Given the description of an element on the screen output the (x, y) to click on. 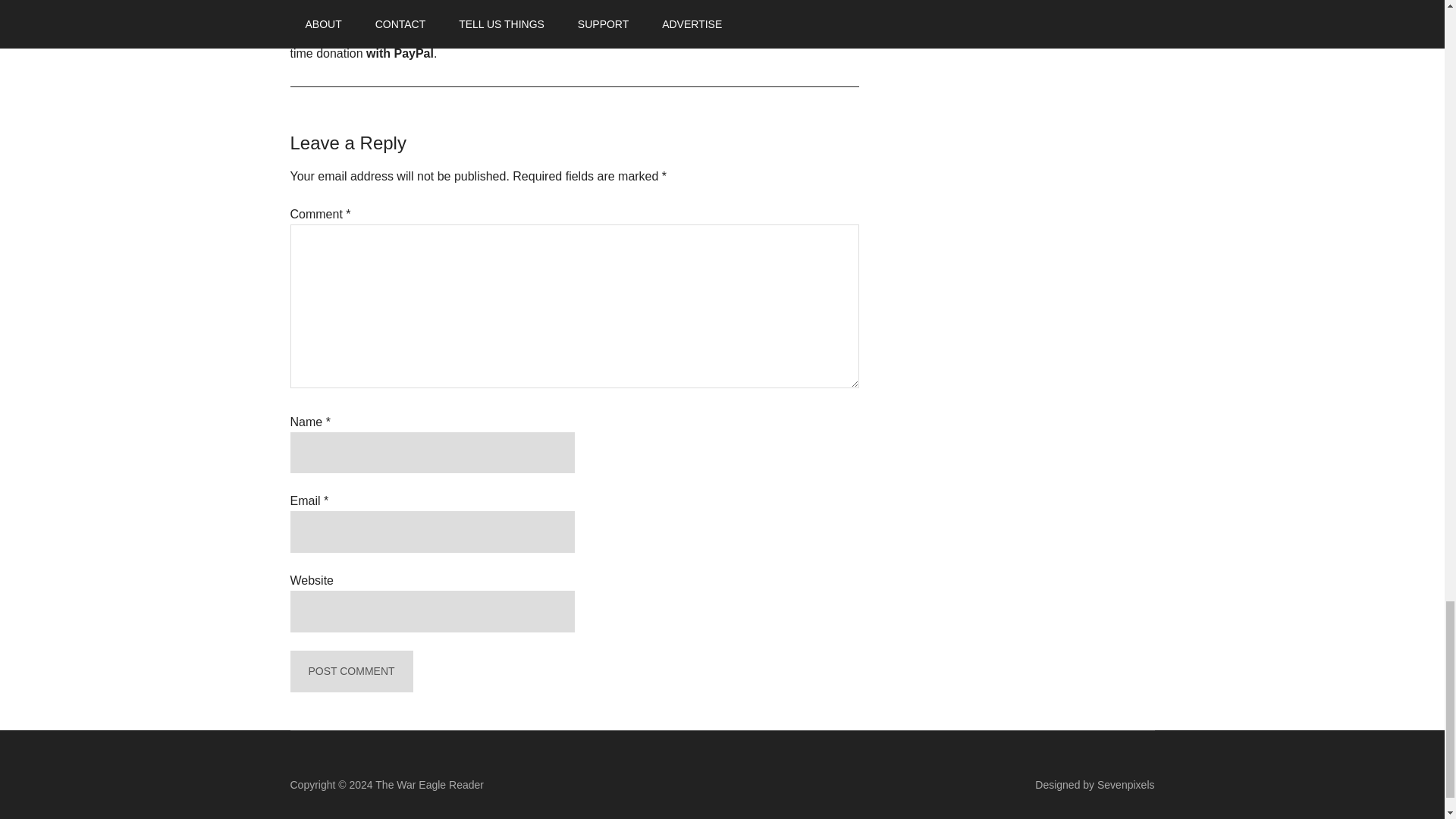
Post Comment (350, 671)
